Given the description of an element on the screen output the (x, y) to click on. 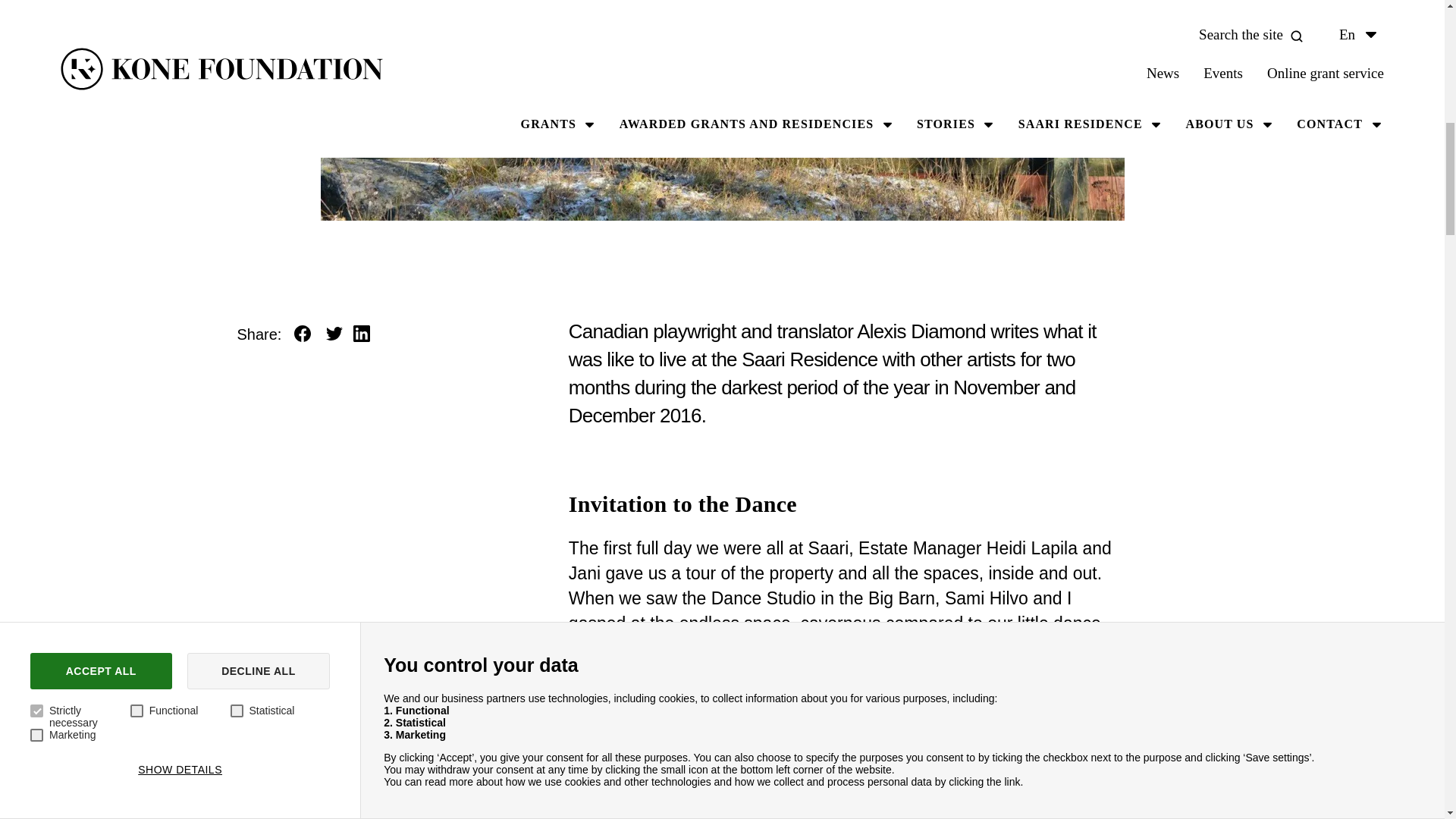
READ MORE ABOUT COOKIES (270, 27)
.c.clarity.ms (1331, 141)
Required for the website to perform properly. (636, 141)
Session (983, 141)
Required for the website to perform properly. (636, 184)
.vimeo.com (1331, 91)
Cloudflare (462, 91)
Microsoft (462, 141)
PHP (462, 184)
Session (983, 91)
